Given the description of an element on the screen output the (x, y) to click on. 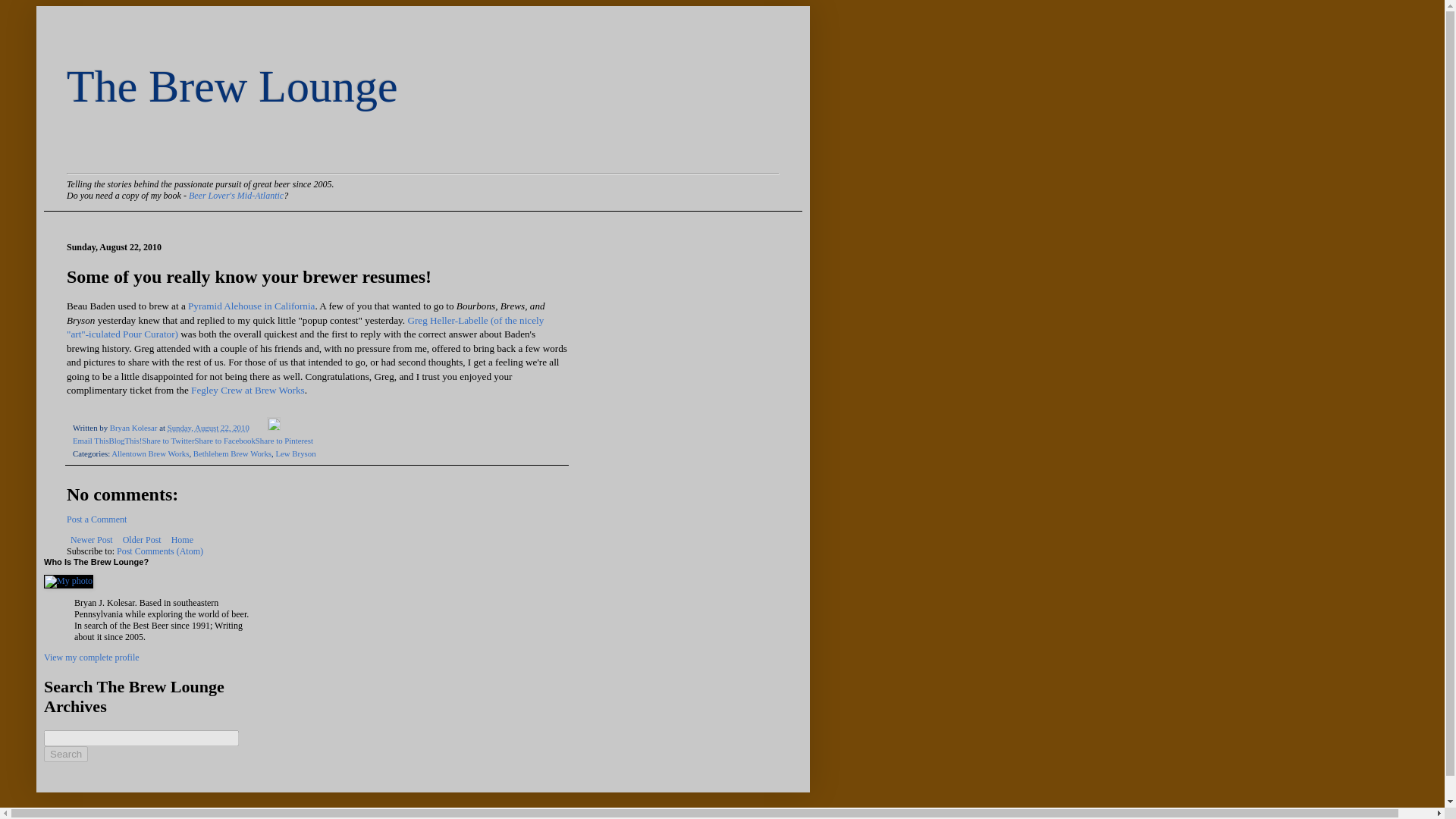
Post a Comment (96, 519)
permanent link (207, 427)
Email Post (259, 427)
Allentown Brew Works (150, 452)
Beer Lover's Mid-Atlantic (236, 195)
Sunday, August 22, 2010 (207, 427)
Home (181, 539)
Email This (89, 440)
Share to Facebook (223, 440)
Bethlehem Brew Works (231, 452)
Newer Post (91, 539)
Pyramid Alehouse in California (250, 306)
Older Post (142, 539)
BlogThis! (124, 440)
Share to Pinterest (284, 440)
